Given the description of an element on the screen output the (x, y) to click on. 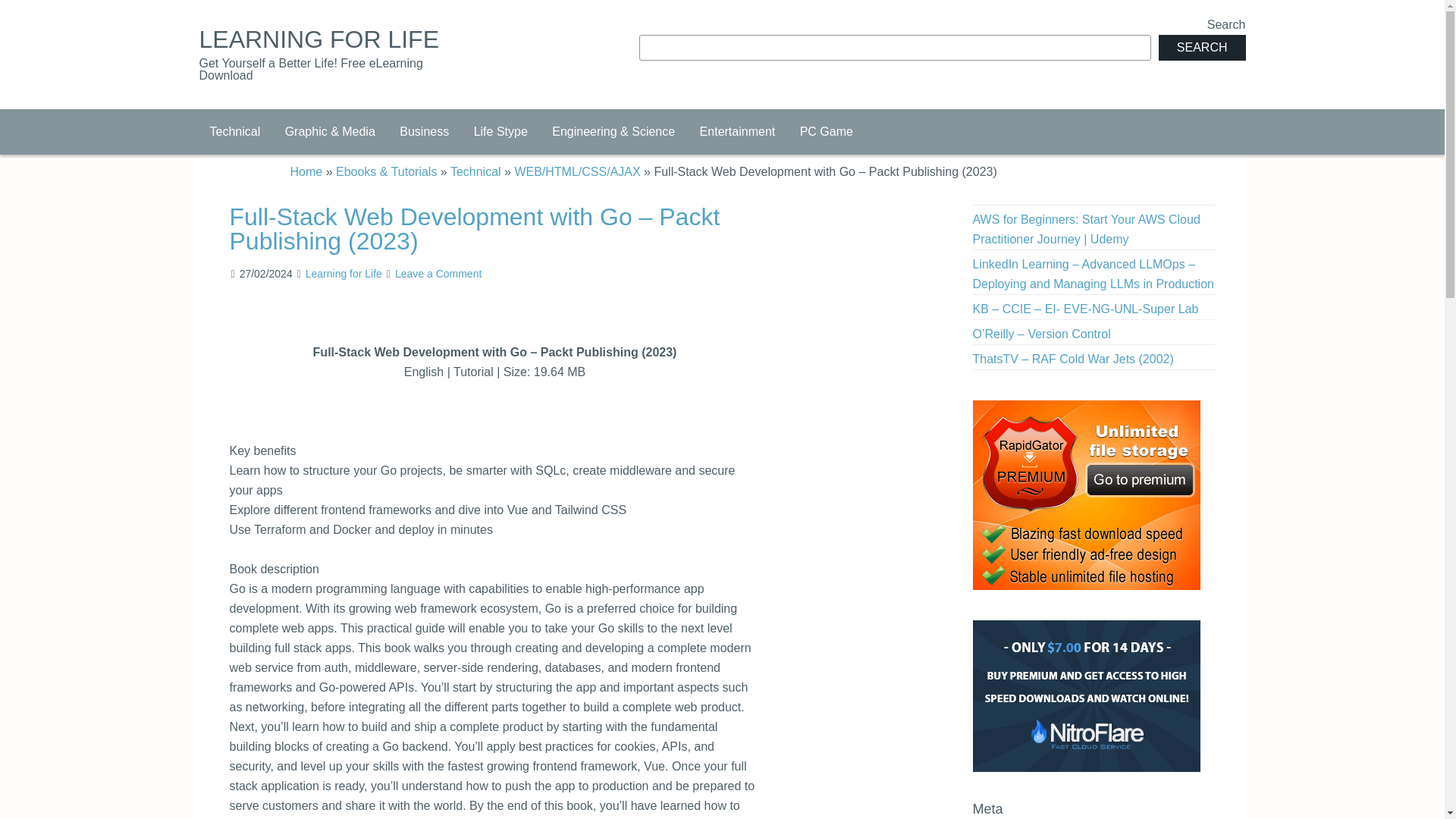
LEARNING FOR LIFE (318, 39)
Business (424, 131)
Technical (234, 131)
Life Stype (500, 131)
SEARCH (1202, 47)
